Given the description of an element on the screen output the (x, y) to click on. 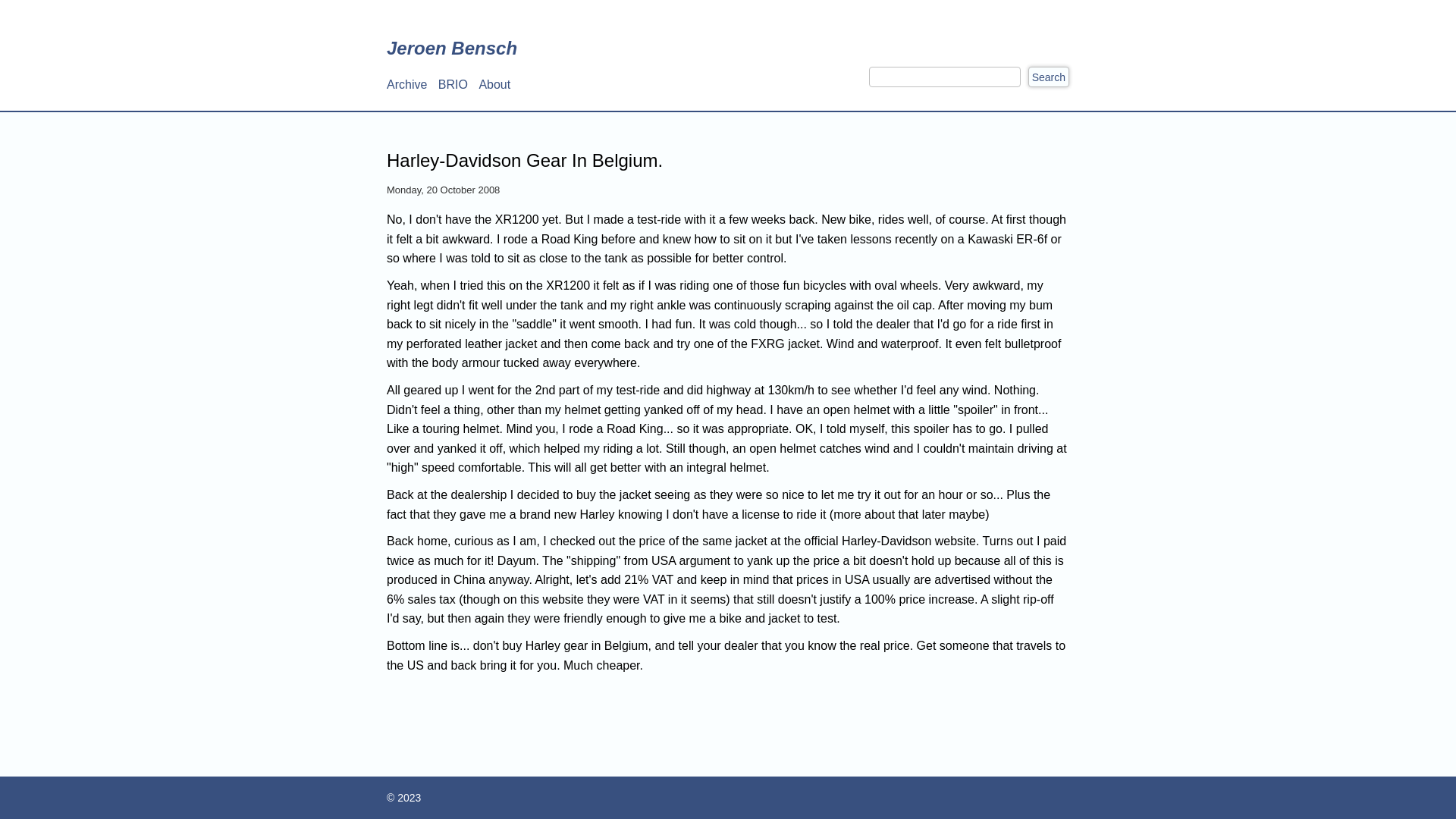
BRIO Element type: text (452, 84)
Search Element type: text (1048, 76)
Skip to main content Element type: text (0, 0)
Archive Element type: text (406, 84)
Jeroen Bensch Element type: text (451, 47)
About Element type: text (494, 84)
Enter the terms you wish to search for. Element type: hover (944, 76)
